Given the description of an element on the screen output the (x, y) to click on. 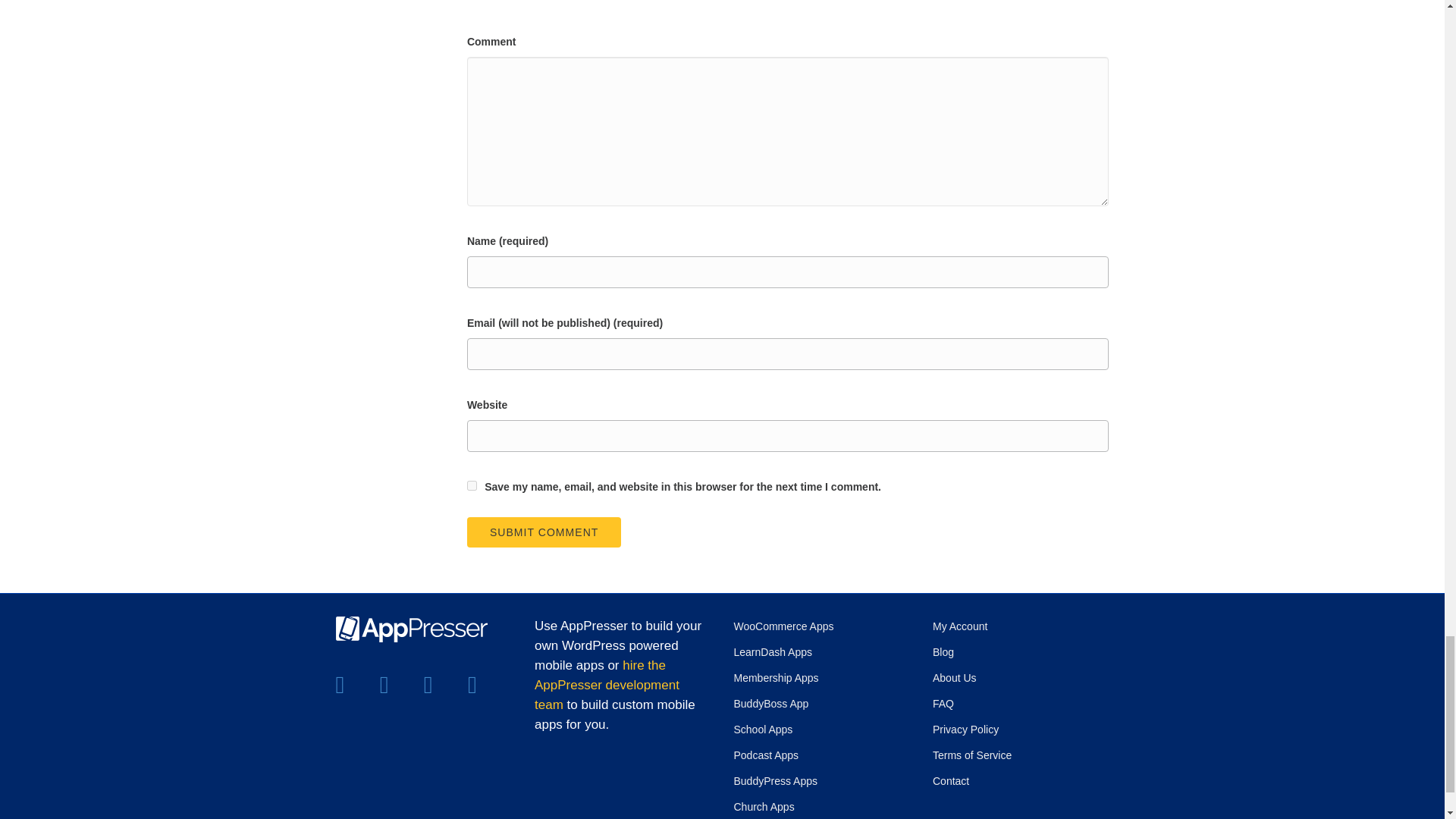
Submit Comment (544, 531)
Custom Mobile App Development Services (606, 684)
yes (472, 485)
